Given the description of an element on the screen output the (x, y) to click on. 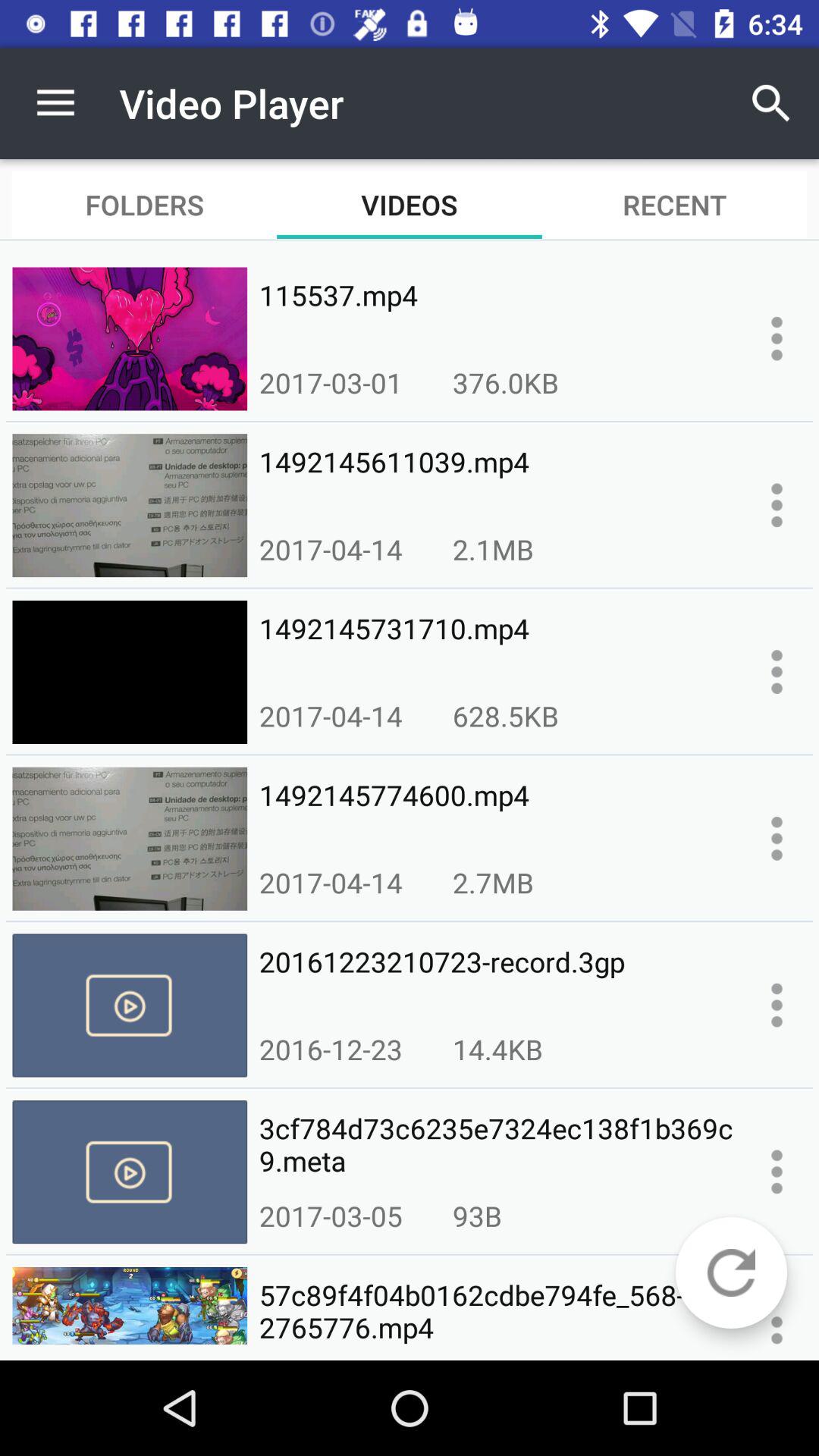
more option (776, 1005)
